Given the description of an element on the screen output the (x, y) to click on. 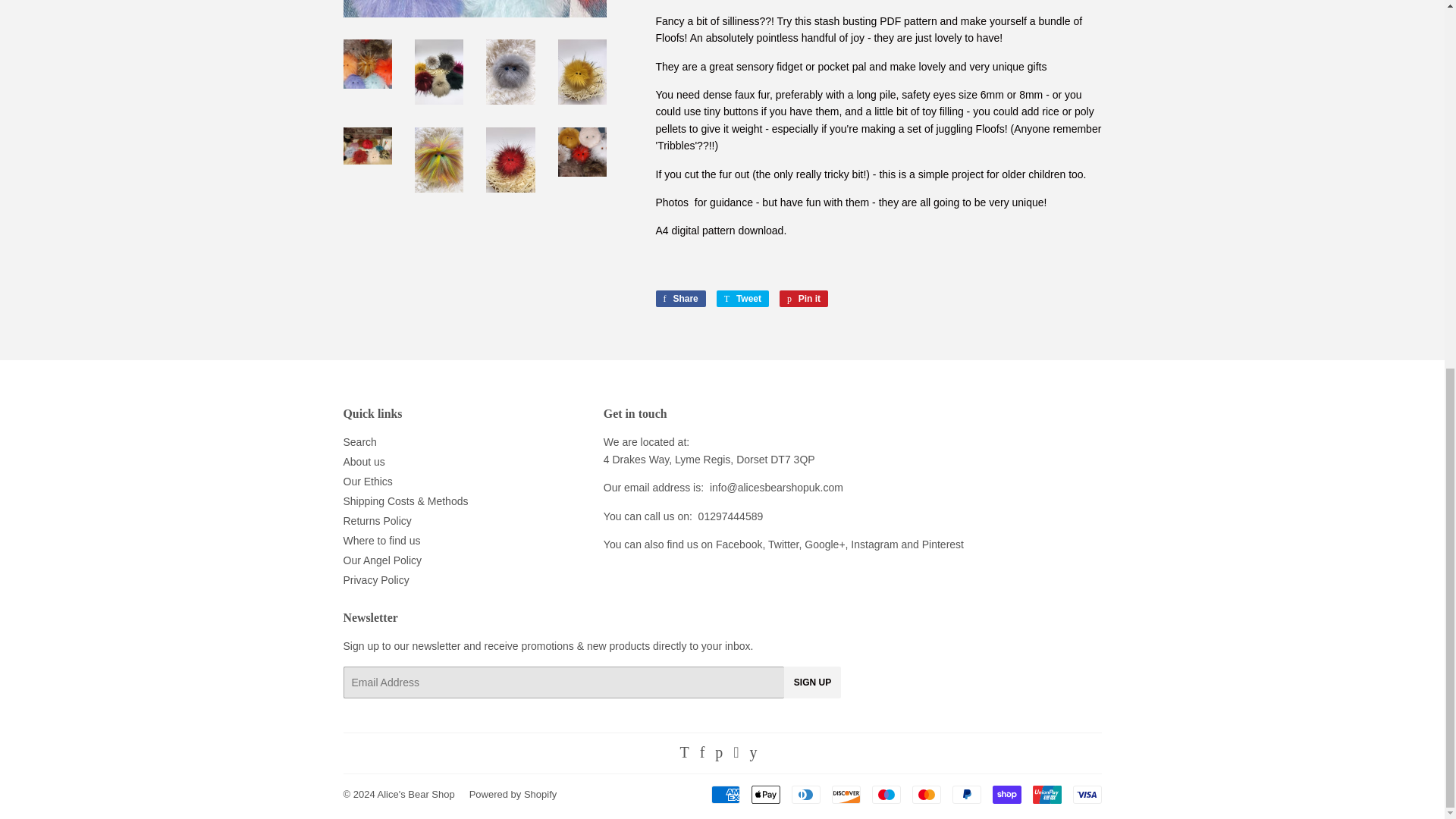
PayPal (966, 794)
Visa (1085, 794)
Tweet on Twitter (742, 298)
Diners Club (806, 794)
Share on Facebook (679, 298)
Mastercard (925, 794)
Discover (845, 794)
Alice's Bear Shop Twitter (785, 544)
Alice's Bear Shop Instagram (874, 544)
Pin on Pinterest (803, 298)
